Given the description of an element on the screen output the (x, y) to click on. 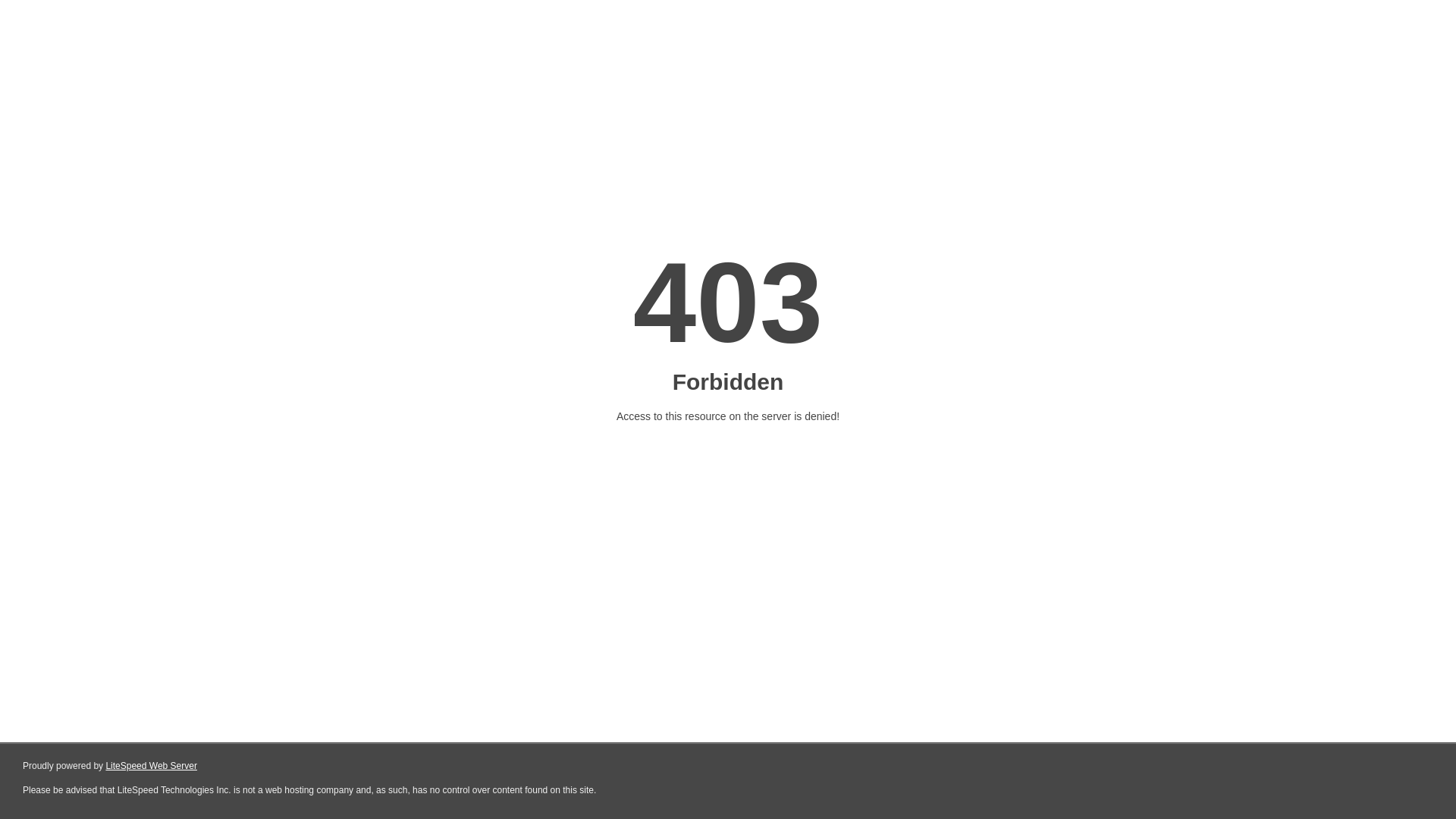
LiteSpeed Web Server Element type: text (151, 765)
